Given the description of an element on the screen output the (x, y) to click on. 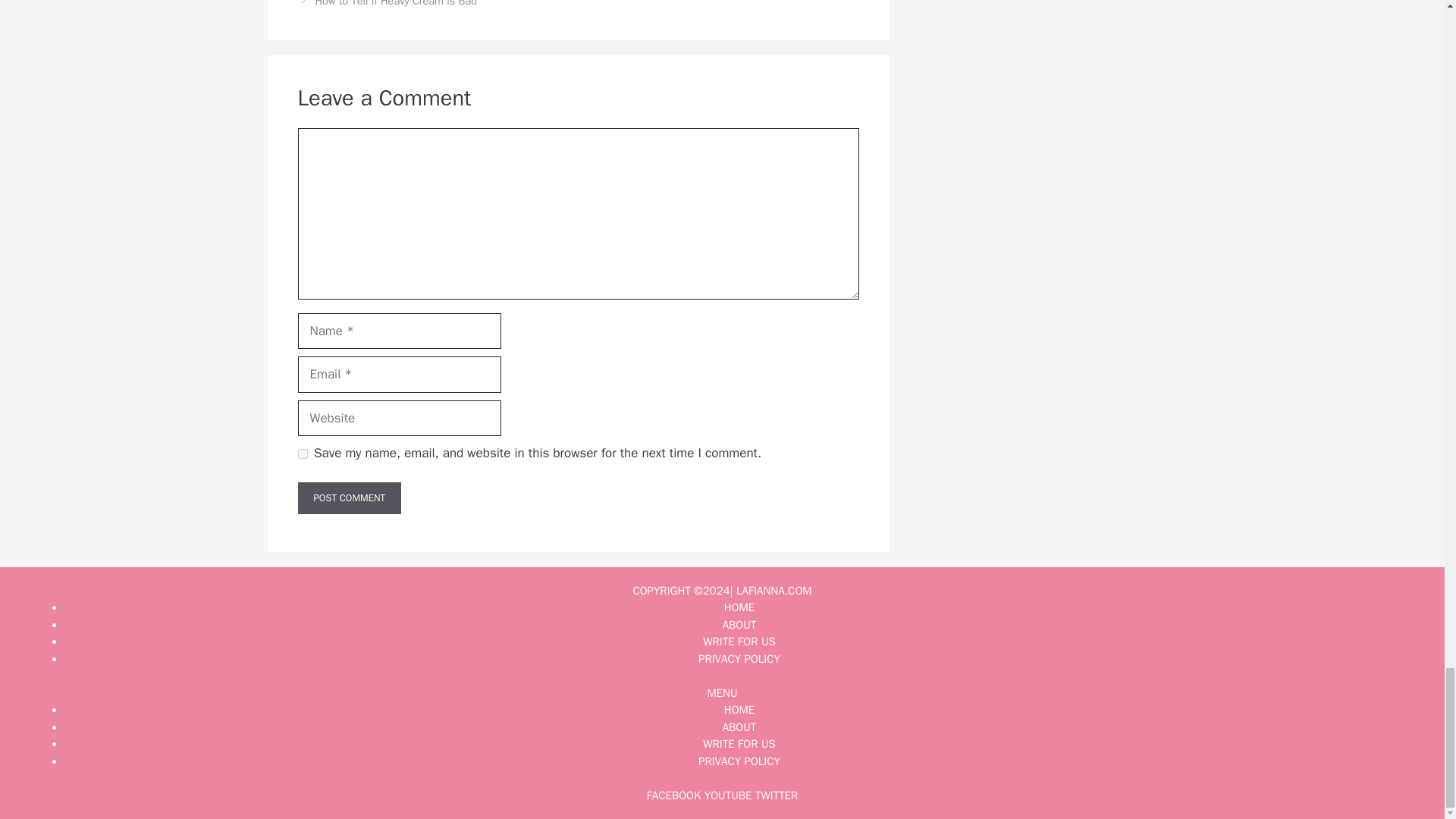
yes (302, 453)
How to Tell If Heavy Cream is Bad (396, 3)
Post Comment (349, 498)
Next (396, 3)
Post Comment (349, 498)
